Given the description of an element on the screen output the (x, y) to click on. 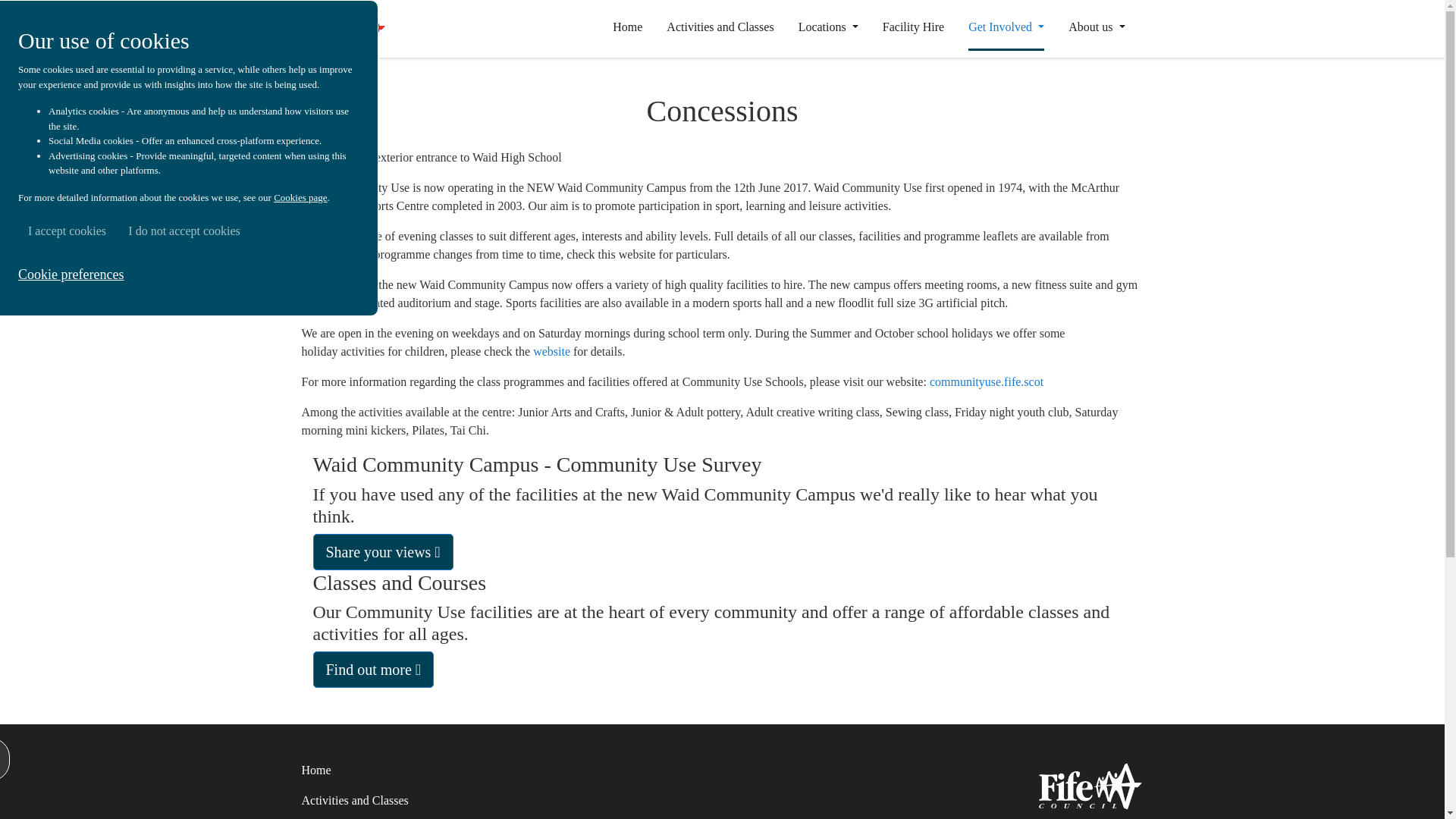
Share your views  (382, 551)
Activities and Classes (355, 799)
Activities and Classes (719, 27)
Locations (828, 27)
Active Fife - leisure hub (343, 28)
Find out more  (373, 669)
website (551, 350)
communityuse.fife.scot (986, 381)
Home (316, 769)
Get Involved (1005, 27)
